Given the description of an element on the screen output the (x, y) to click on. 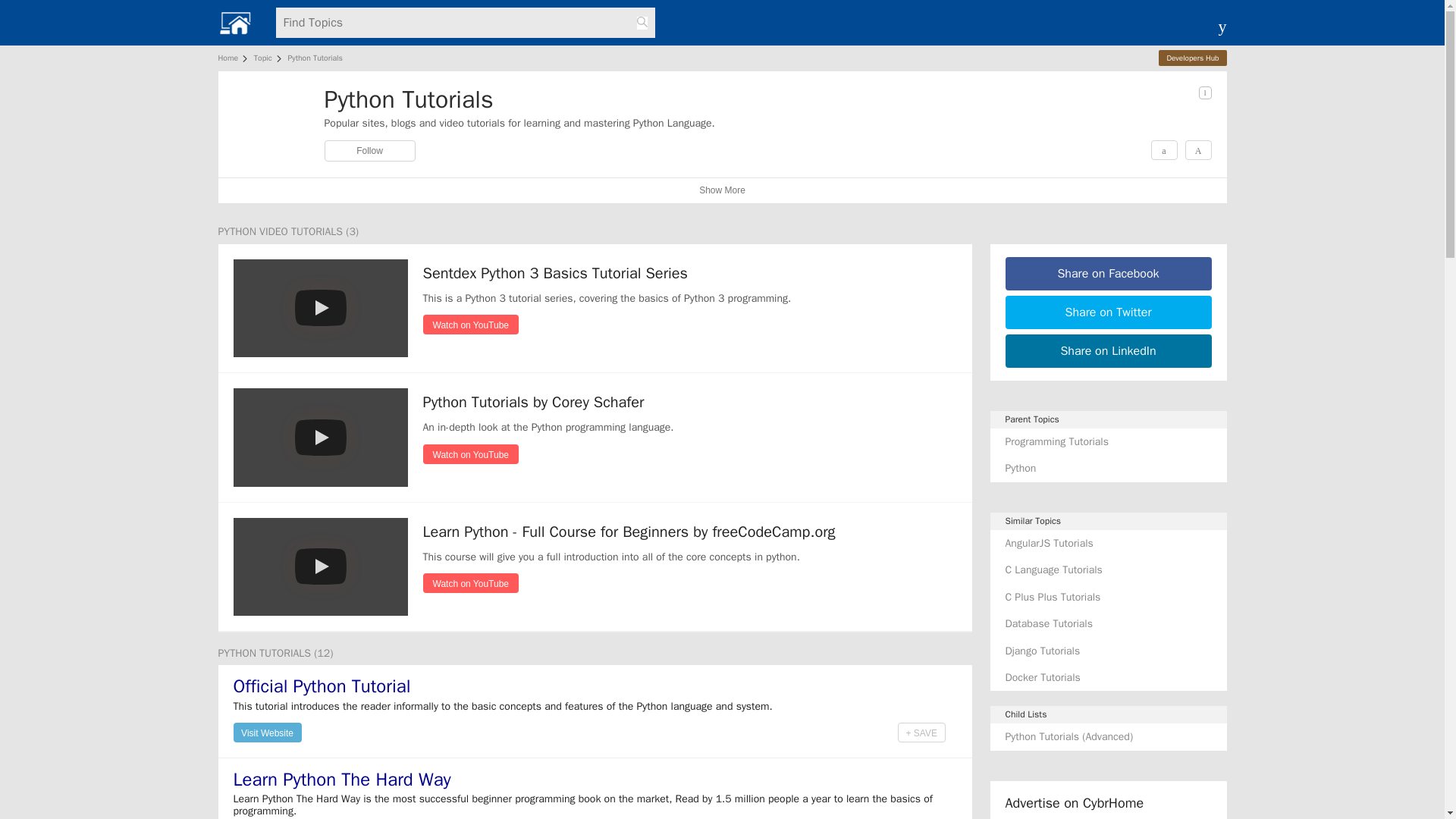
Watch on YouTube (471, 454)
Watch on YouTube (471, 323)
Watch on YouTube (471, 453)
Report Topic (1204, 92)
Topic (262, 57)
Developers Hub (1191, 57)
Follow (369, 150)
Visit Website (266, 732)
Visit Website (266, 731)
Home (230, 57)
